Given the description of an element on the screen output the (x, y) to click on. 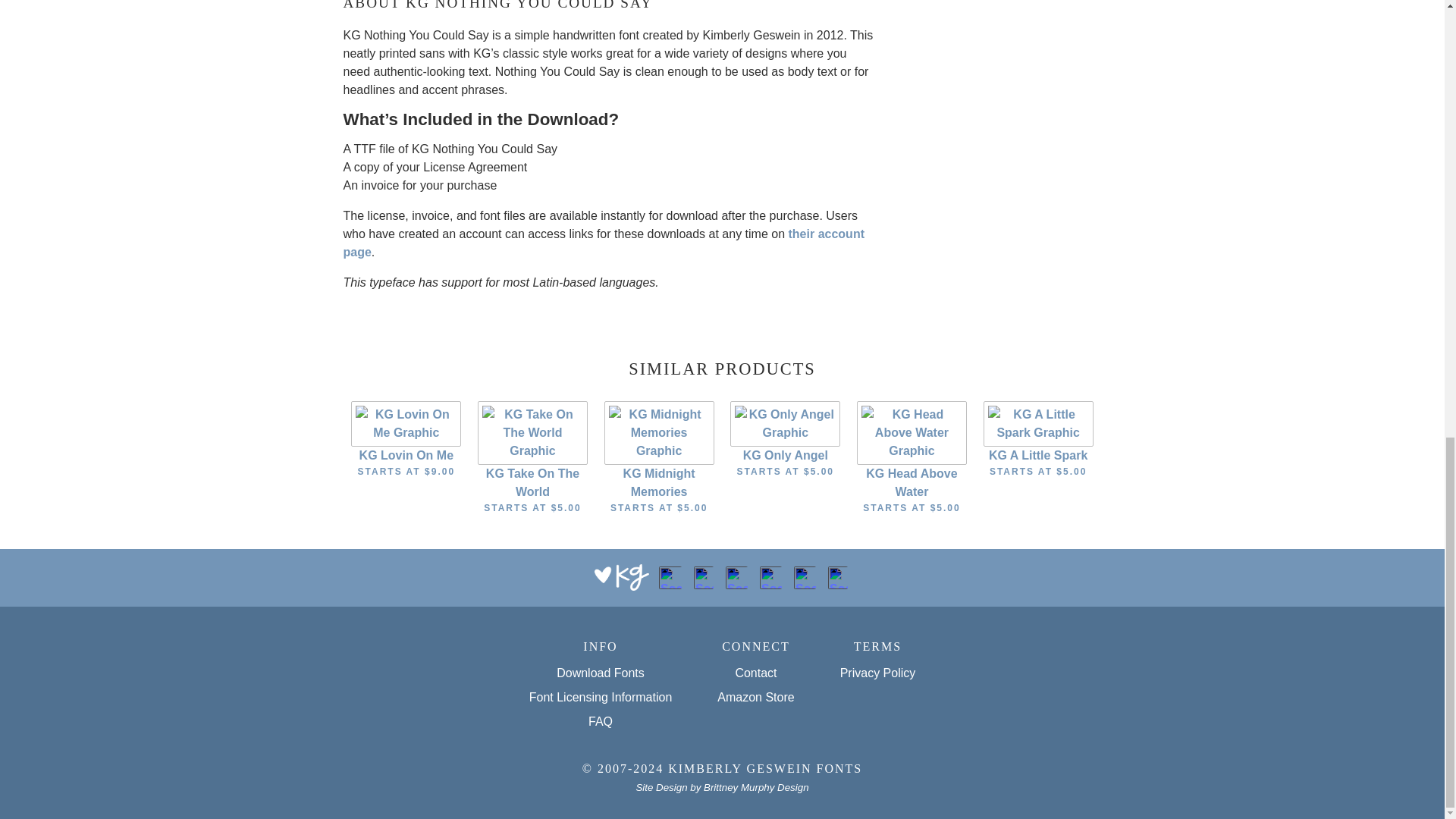
their account page (602, 242)
KG A Little Spark (1038, 422)
KG Only Angel (785, 422)
KG Lovin On Me (405, 422)
Social Icon (736, 577)
Social Icon (670, 577)
KG Midnight Memories (659, 431)
KG Head Above Water (911, 431)
KG Take On The World (532, 431)
